Given the description of an element on the screen output the (x, y) to click on. 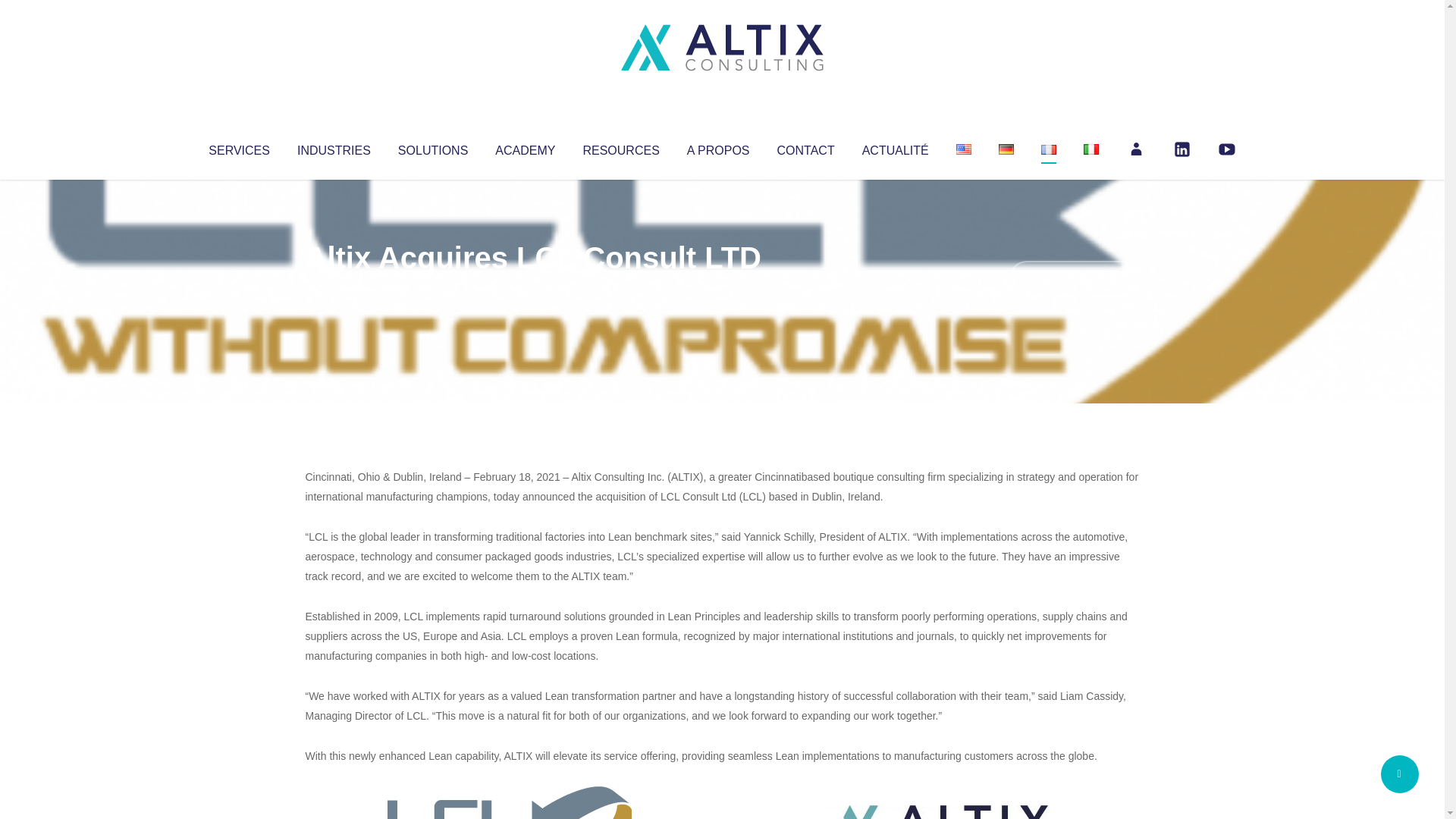
ACADEMY (524, 146)
RESOURCES (620, 146)
SERVICES (238, 146)
Articles par Altix (333, 287)
SOLUTIONS (432, 146)
A PROPOS (718, 146)
Uncategorized (530, 287)
INDUSTRIES (334, 146)
Altix (333, 287)
No Comments (1073, 278)
